Given the description of an element on the screen output the (x, y) to click on. 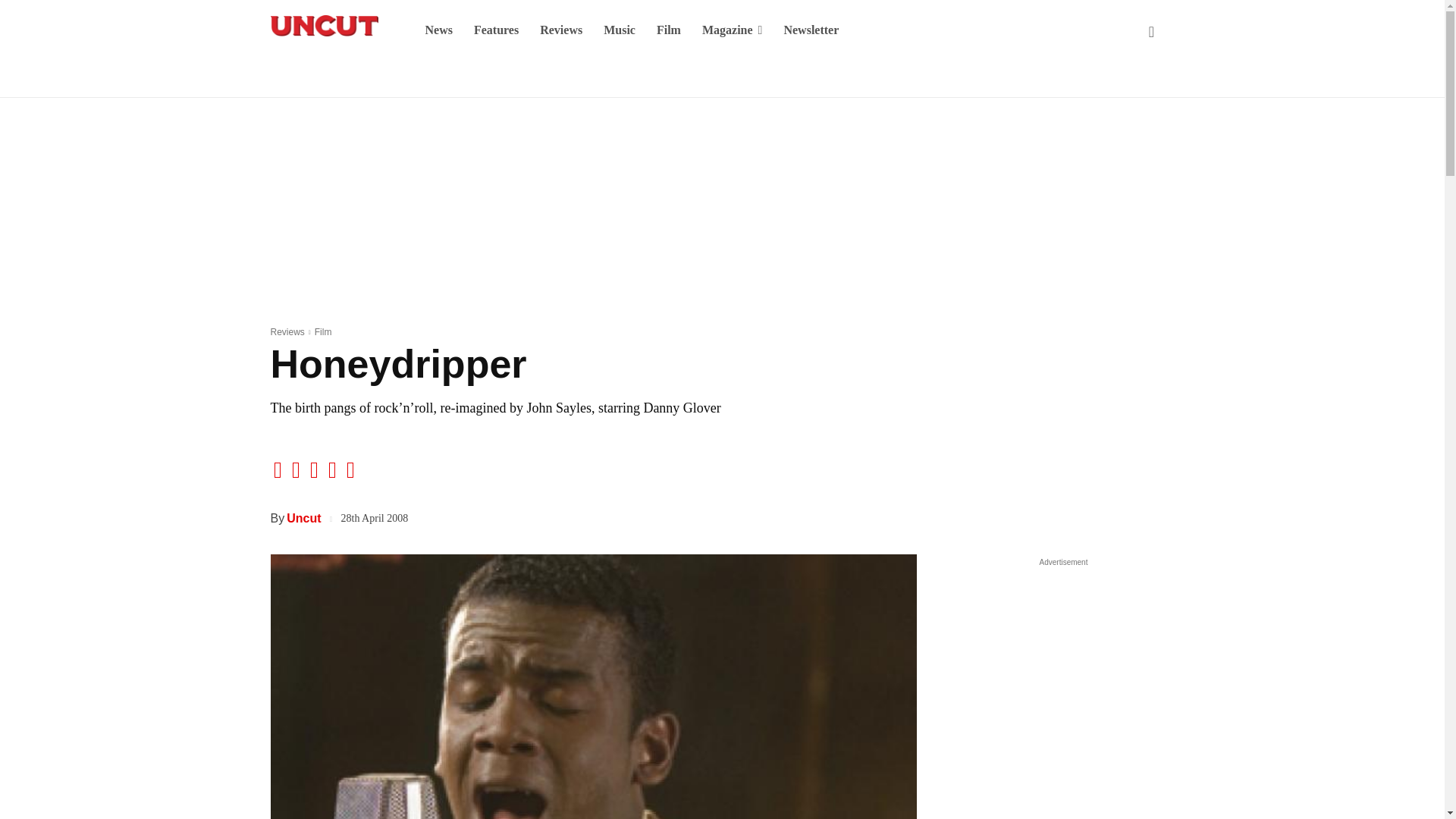
Features (496, 30)
Magazine (732, 30)
Reviews (560, 30)
View all posts in Film (322, 331)
Newsletter (810, 30)
Uncut Logo (323, 25)
View all posts in Reviews (286, 331)
